Given the description of an element on the screen output the (x, y) to click on. 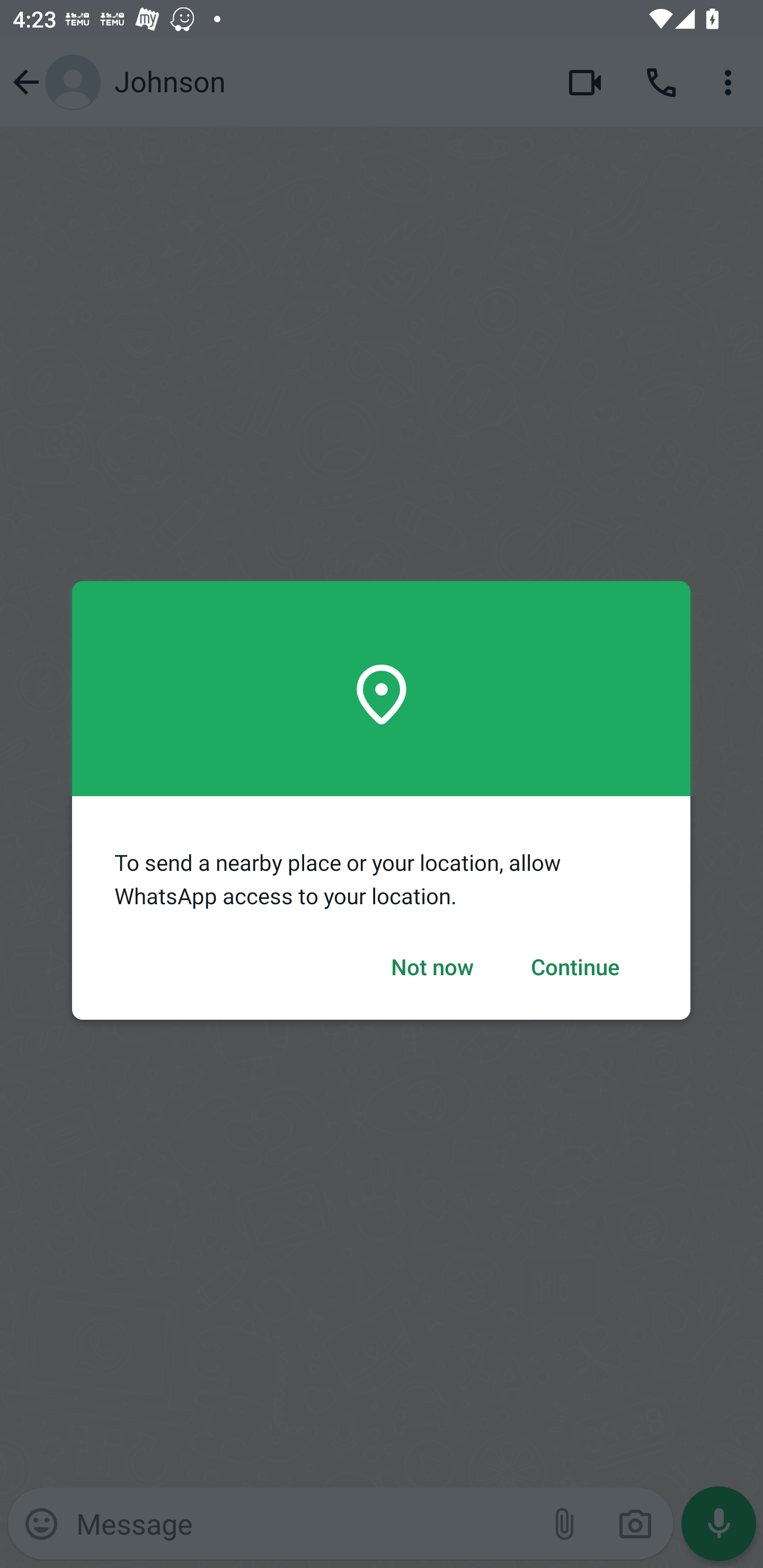
NOT NOW (432, 967)
CONTINUE (575, 967)
